Given the description of an element on the screen output the (x, y) to click on. 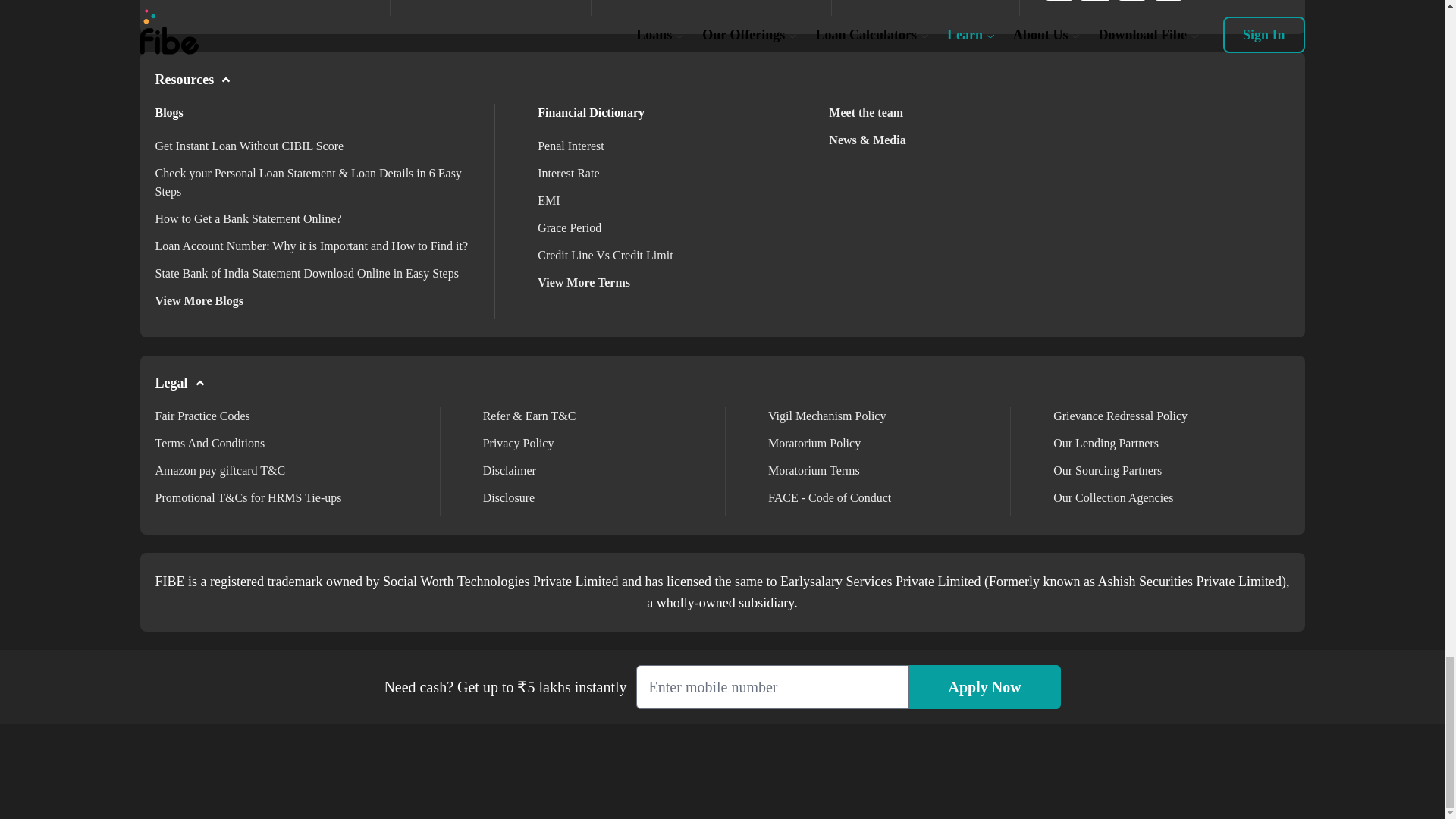
moratorium-terms (814, 470)
Our Lending Partners (1105, 442)
Grievance Redressal Policy (1120, 415)
face code conduct (829, 497)
Privacy Policy (518, 442)
fair code practices (201, 415)
Disclaimer (509, 470)
Our Collection Agencies (1112, 497)
Our Sourcing Partners (1106, 470)
moratorium policy (814, 442)
terms conditions (209, 442)
